Given the description of an element on the screen output the (x, y) to click on. 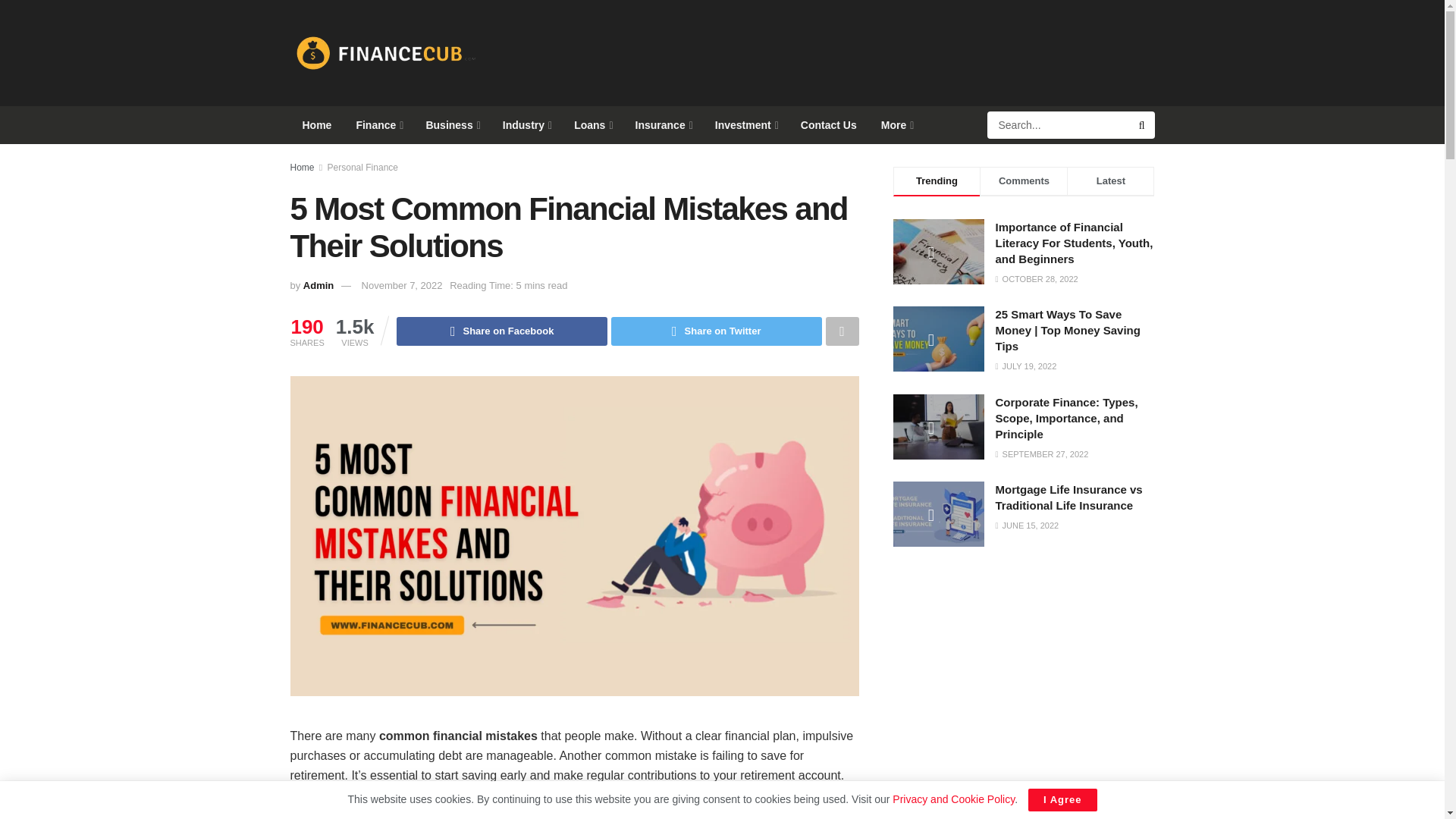
Finance (378, 125)
Industry (526, 125)
Loans (592, 125)
Home (316, 125)
Contact Us (829, 125)
Business (451, 125)
Investment (746, 125)
Insurance (663, 125)
More (896, 125)
